Given the description of an element on the screen output the (x, y) to click on. 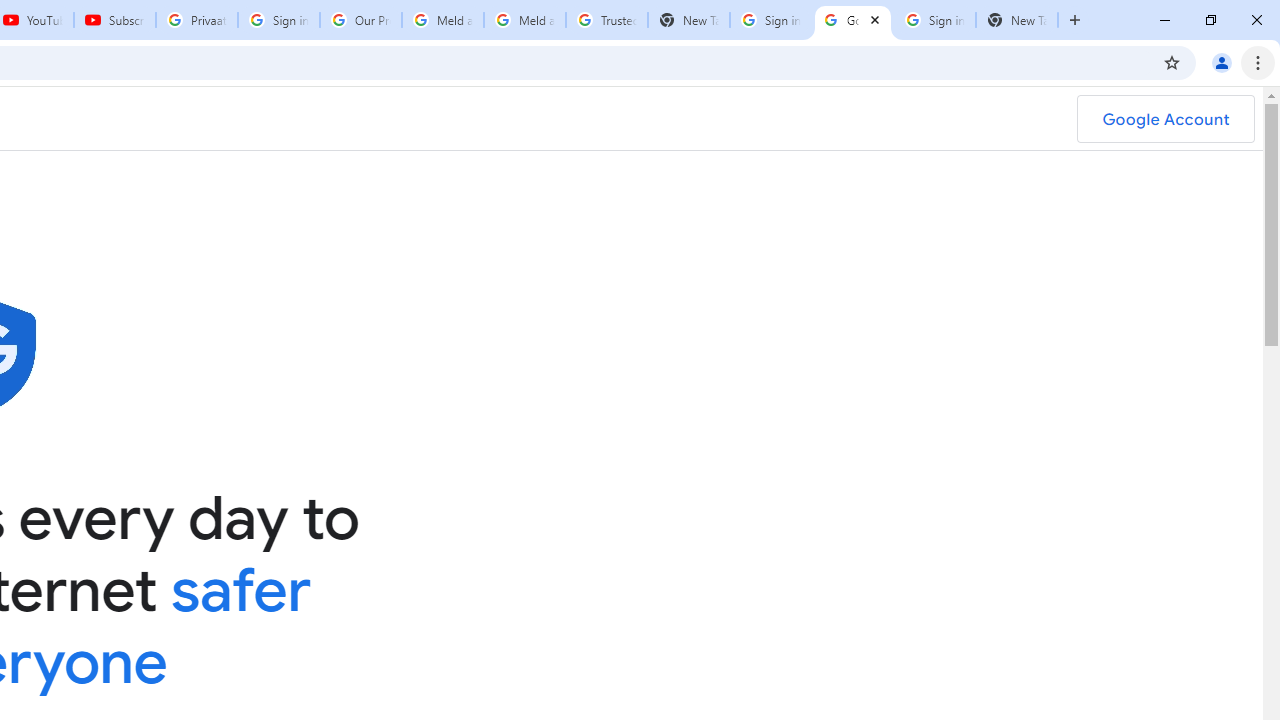
Sign in - Google Accounts (770, 20)
